Given the description of an element on the screen output the (x, y) to click on. 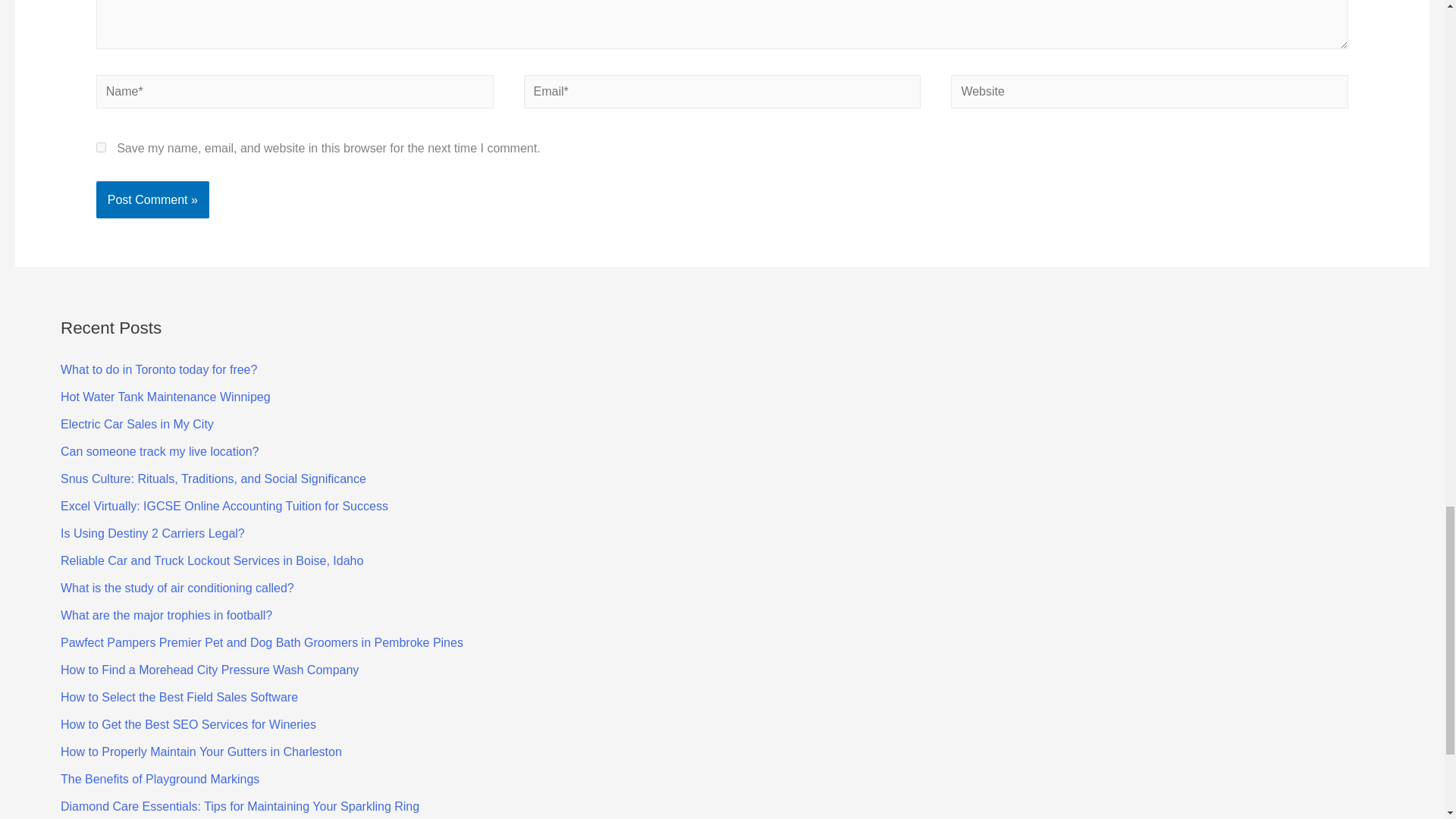
How to Properly Maintain Your Gutters in Charleston (201, 751)
Hot Water Tank Maintenance Winnipeg (165, 396)
yes (101, 147)
How to Get the Best SEO Services for Wineries (188, 724)
Reliable Car and Truck Lockout Services in Boise, Idaho (211, 560)
Excel Virtually: IGCSE Online Accounting Tuition for Success (224, 505)
Is Using Destiny 2 Carriers Legal? (152, 533)
How to Select the Best Field Sales Software (179, 697)
What to do in Toronto today for free? (159, 369)
What are the major trophies in football? (166, 615)
Electric Car Sales in My City (137, 423)
How to Find a Morehead City Pressure Wash Company (209, 669)
Snus Culture: Rituals, Traditions, and Social Significance (213, 478)
What is the study of air conditioning called? (177, 587)
